Given the description of an element on the screen output the (x, y) to click on. 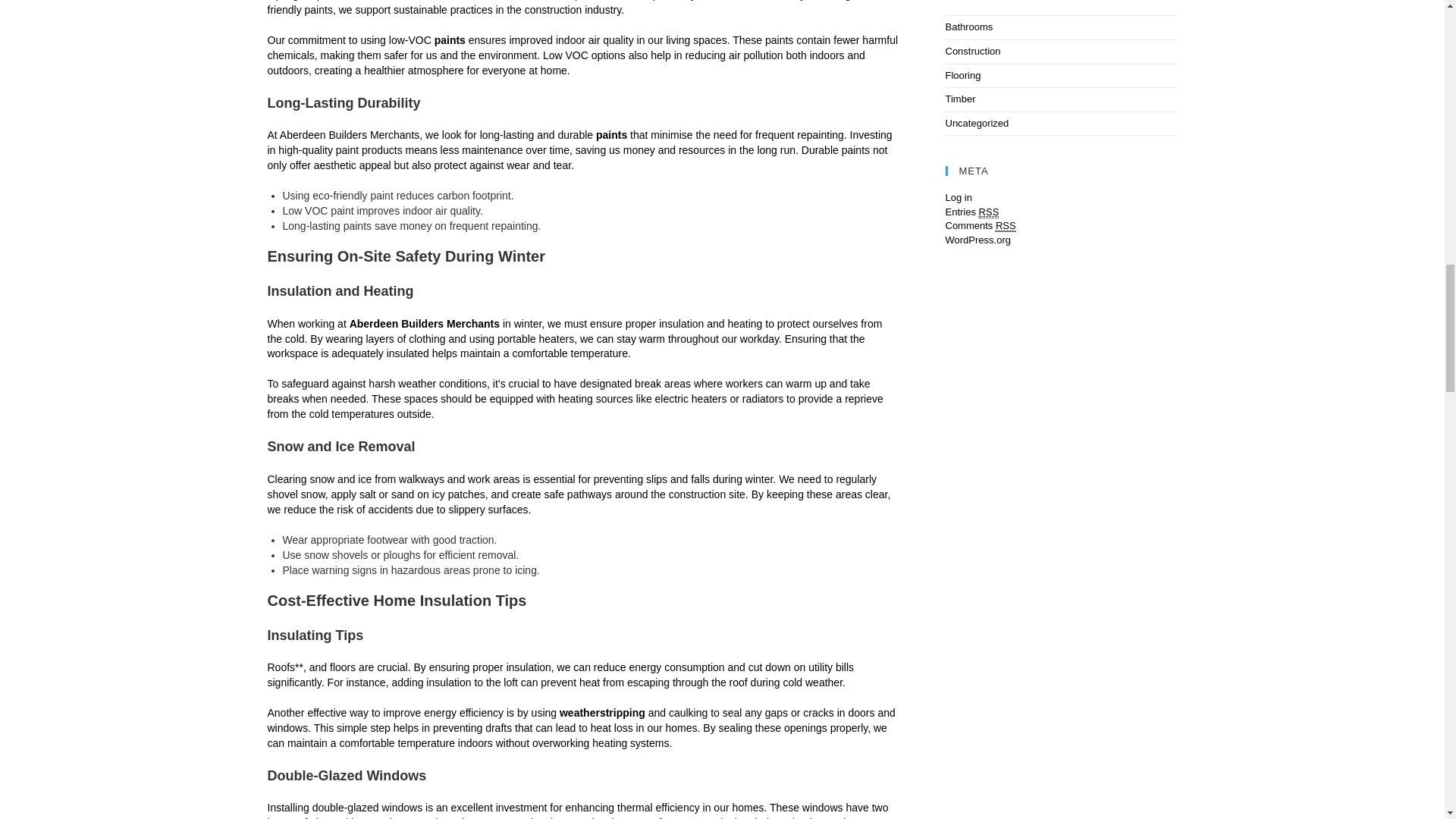
Really Simple Syndication (988, 212)
Really Simple Syndication (1005, 225)
